Given the description of an element on the screen output the (x, y) to click on. 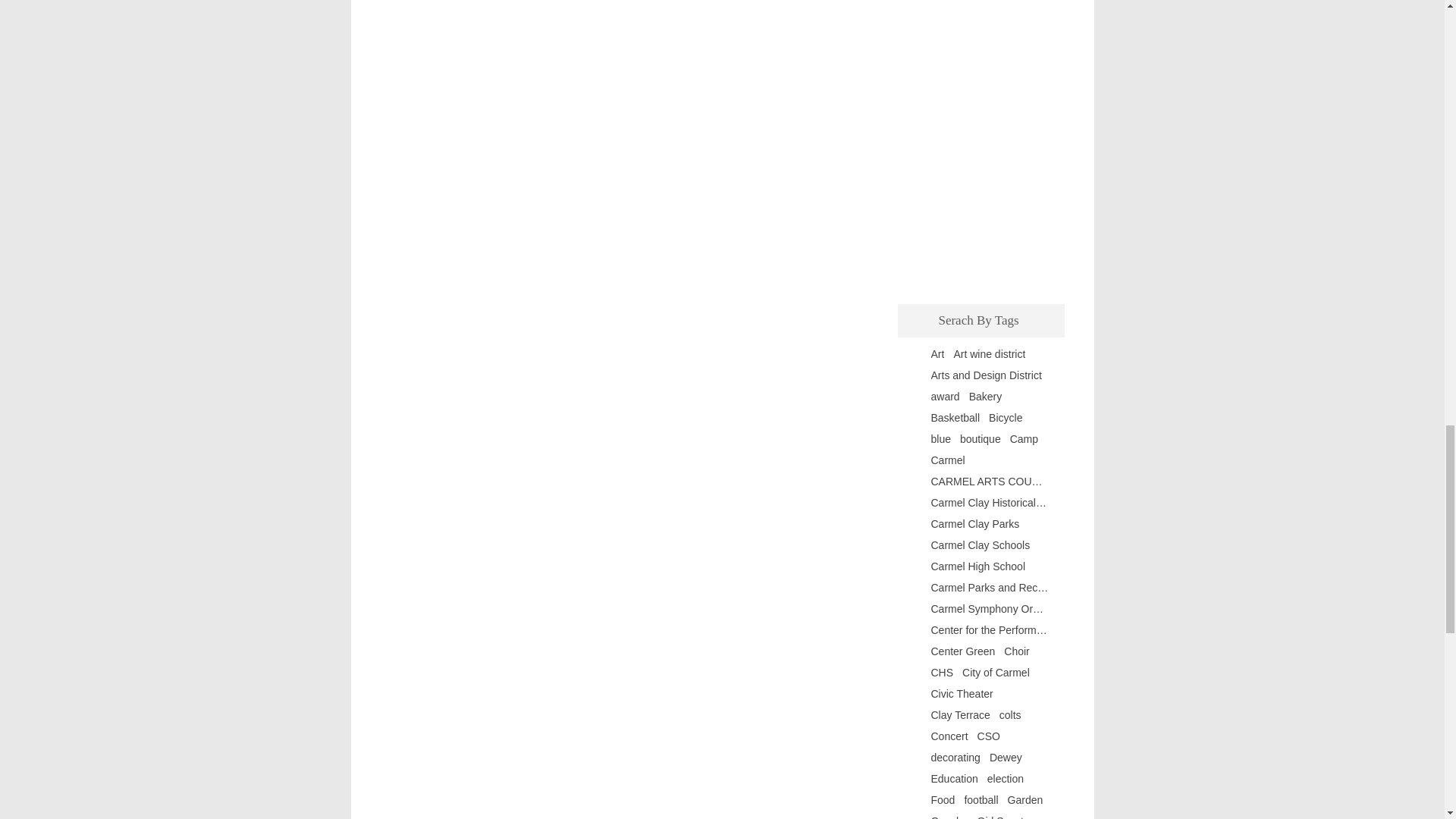
Bakery (986, 396)
Art (937, 354)
blue (940, 439)
CARMEL ARTS COUNCIL (989, 481)
Carmel Clay Historical Society (989, 502)
Carmel (948, 460)
Bicycle (1005, 417)
Carmel Clay Schools (980, 544)
Camp (1024, 439)
Art wine district (989, 354)
award (945, 396)
Carmel Clay Parks (975, 523)
boutique (980, 439)
Arts and Design District (986, 375)
Basketball (955, 417)
